Given the description of an element on the screen output the (x, y) to click on. 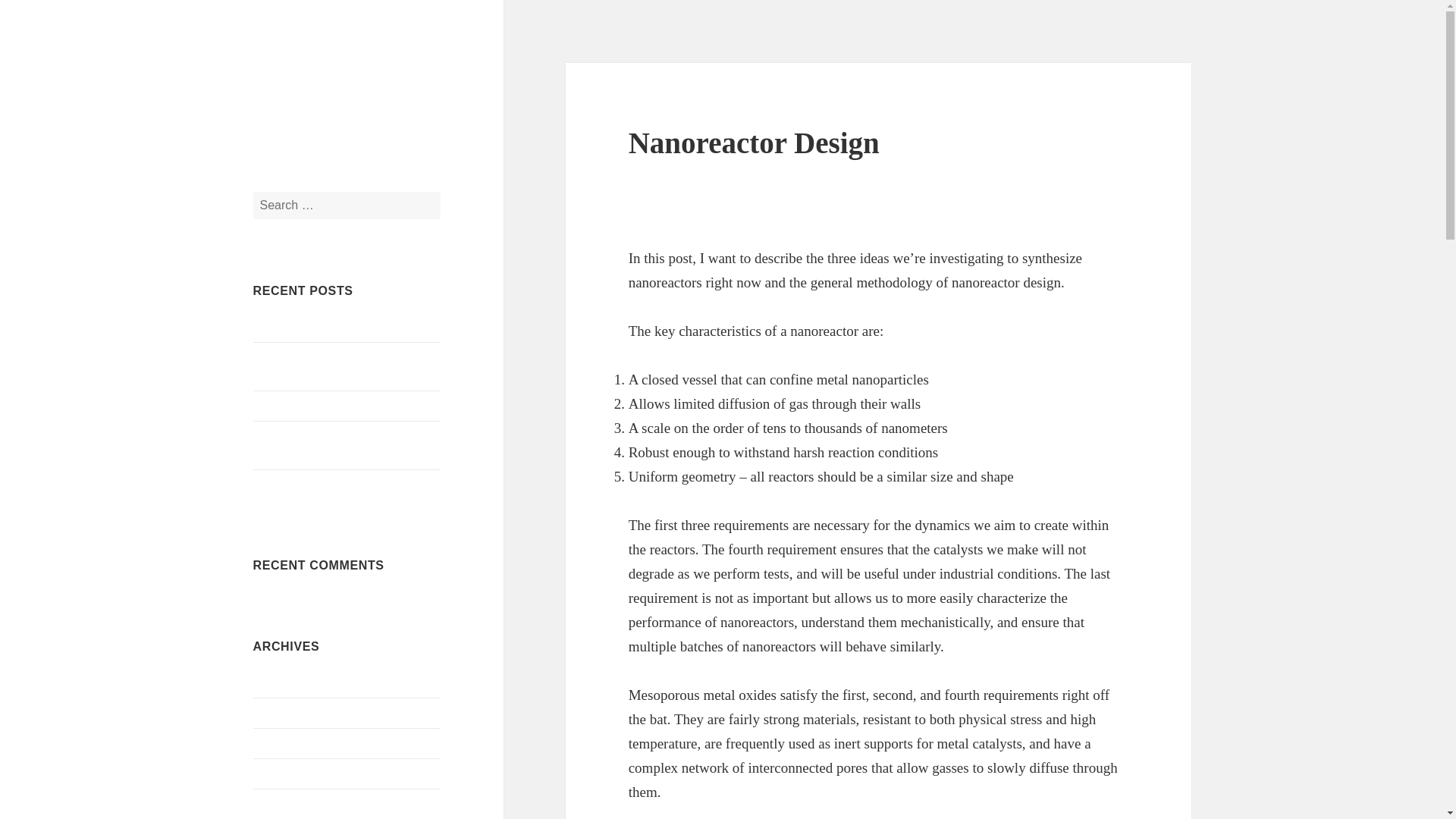
July 2018 (277, 743)
December 2018 (291, 682)
Cosmic Ray Detector (305, 484)
Introduction to Partial Methane Oxidation (329, 445)
April 2017 (279, 803)
June 2018 (277, 773)
Evidence for Ultra Dense Deuterium (341, 327)
August 2018 (284, 712)
